Given the description of an element on the screen output the (x, y) to click on. 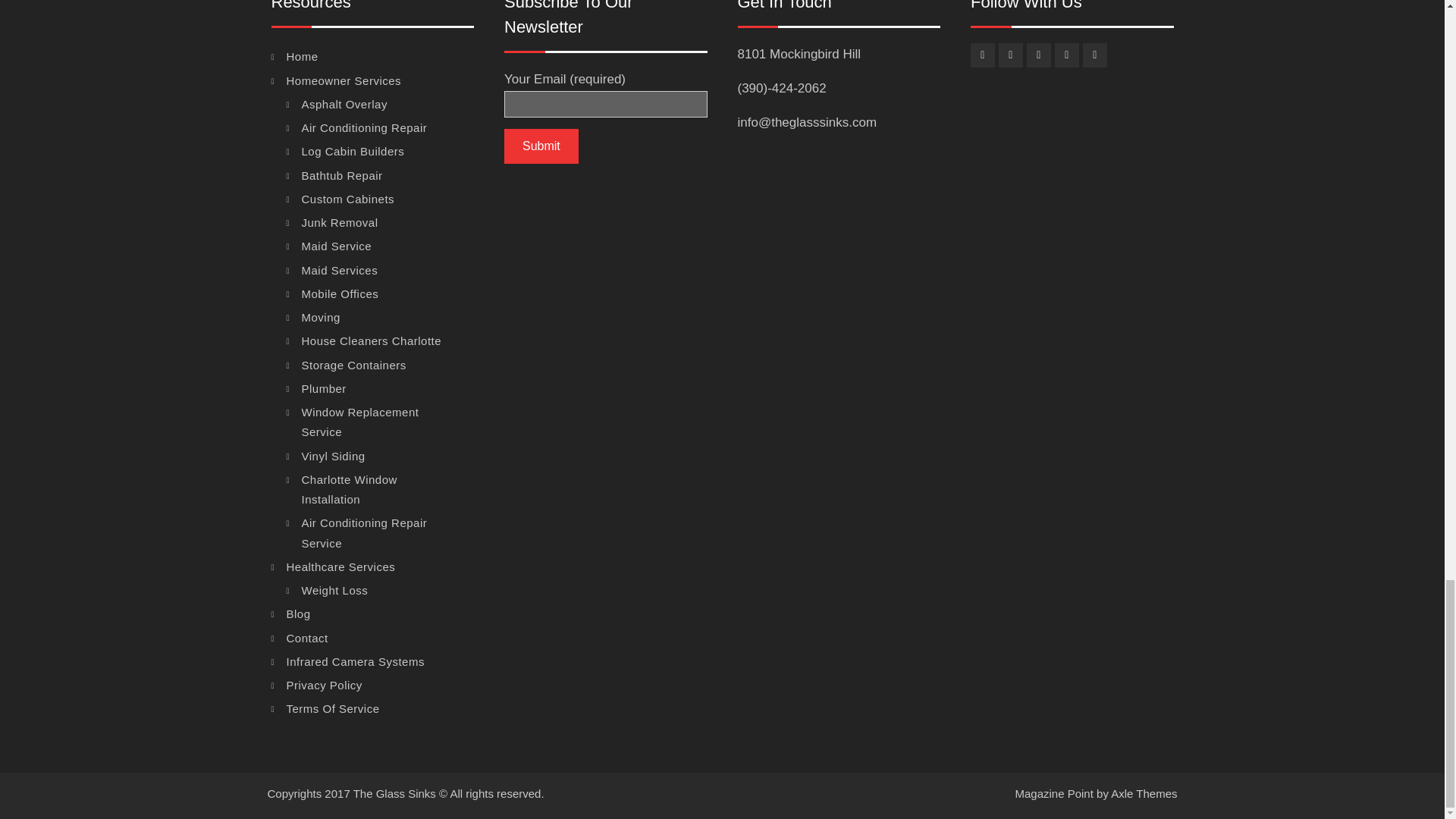
Submit (540, 145)
